Given the description of an element on the screen output the (x, y) to click on. 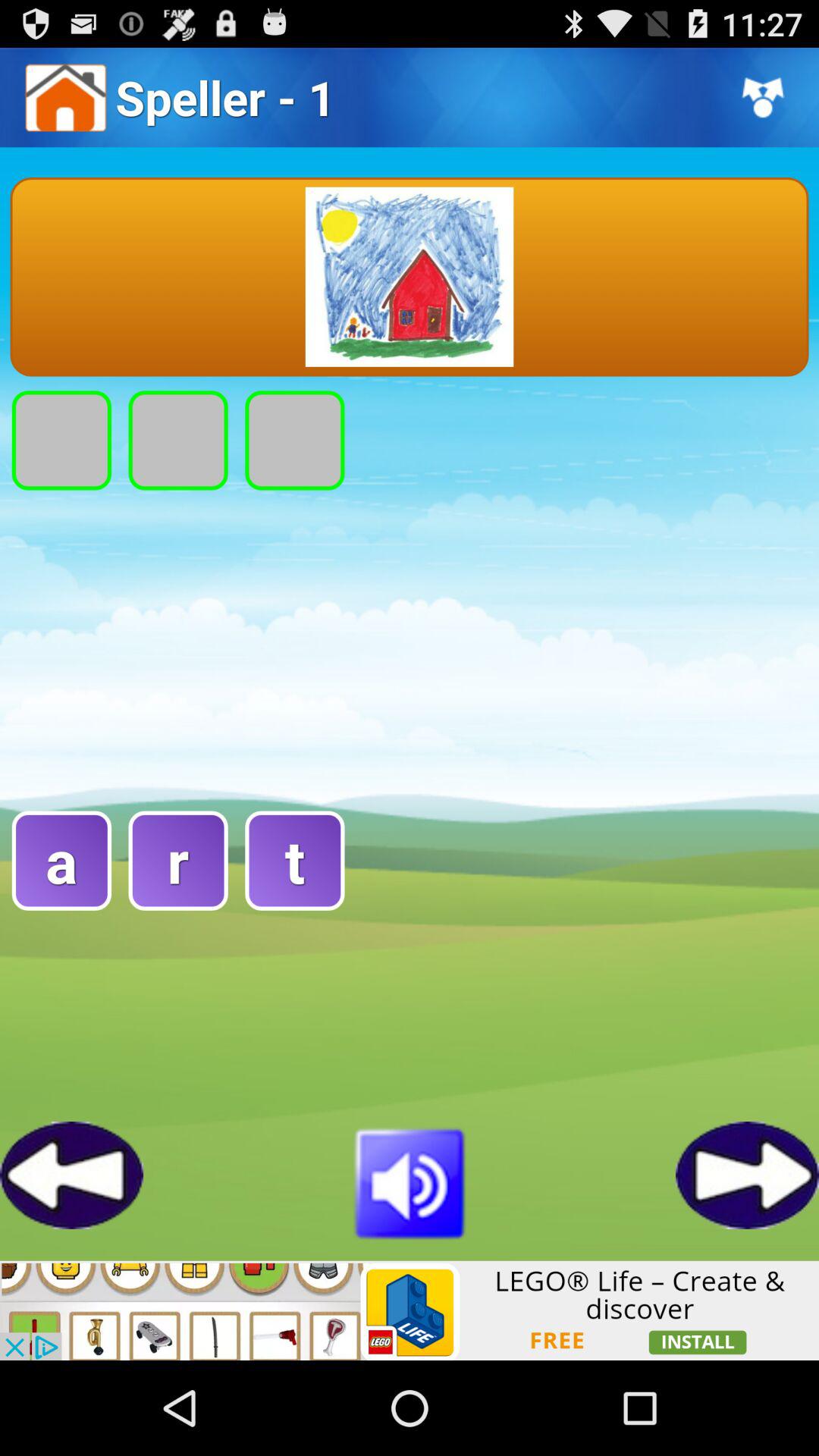
toggle audio (409, 1181)
